Given the description of an element on the screen output the (x, y) to click on. 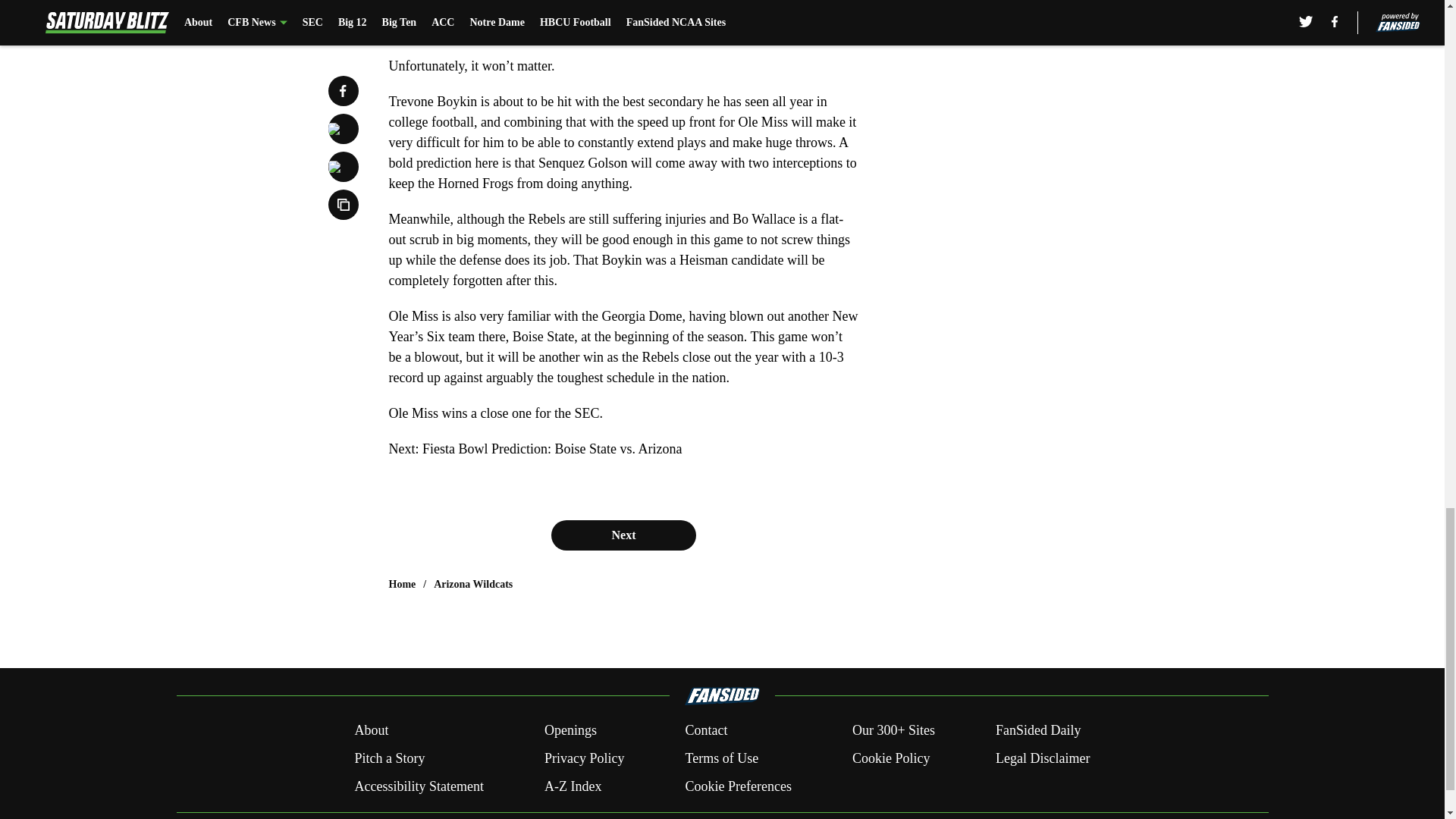
Next (622, 535)
Terms of Use (721, 758)
FanSided Daily (1038, 730)
Openings (570, 730)
Arizona Wildcats (472, 584)
About (370, 730)
Pitch a Story (389, 758)
Contact (705, 730)
Privacy Policy (584, 758)
Home (401, 584)
